Given the description of an element on the screen output the (x, y) to click on. 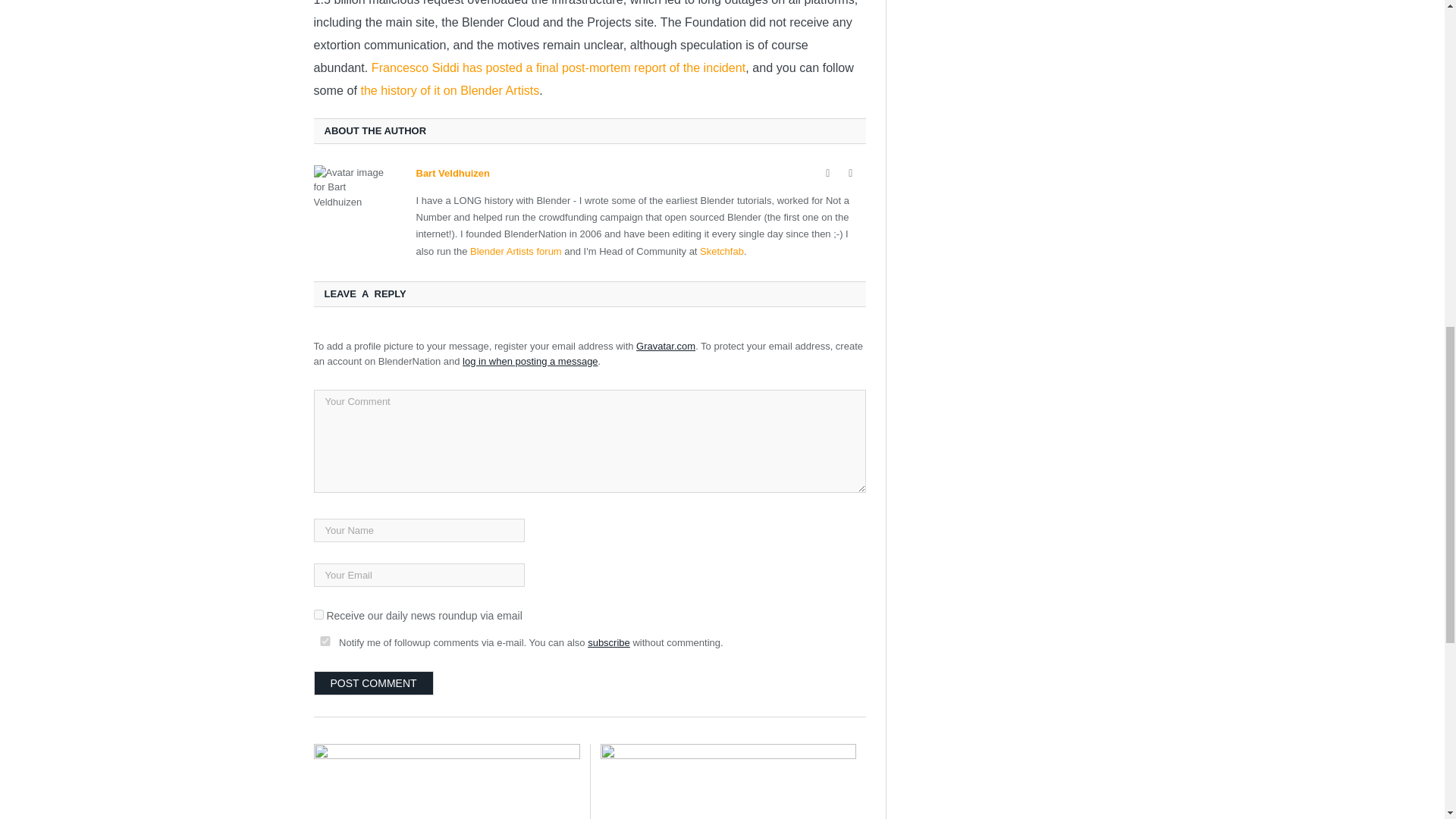
yes (325, 641)
Website (828, 173)
Blender.org Cyberattack - Final Report (727, 781)
the history of it on Blender Artists (448, 90)
Twitter (851, 173)
Post Comment (373, 682)
1 (318, 614)
Blender.org Cyberattack - Final Report (446, 781)
Bart Veldhuizen (451, 173)
